Given the description of an element on the screen output the (x, y) to click on. 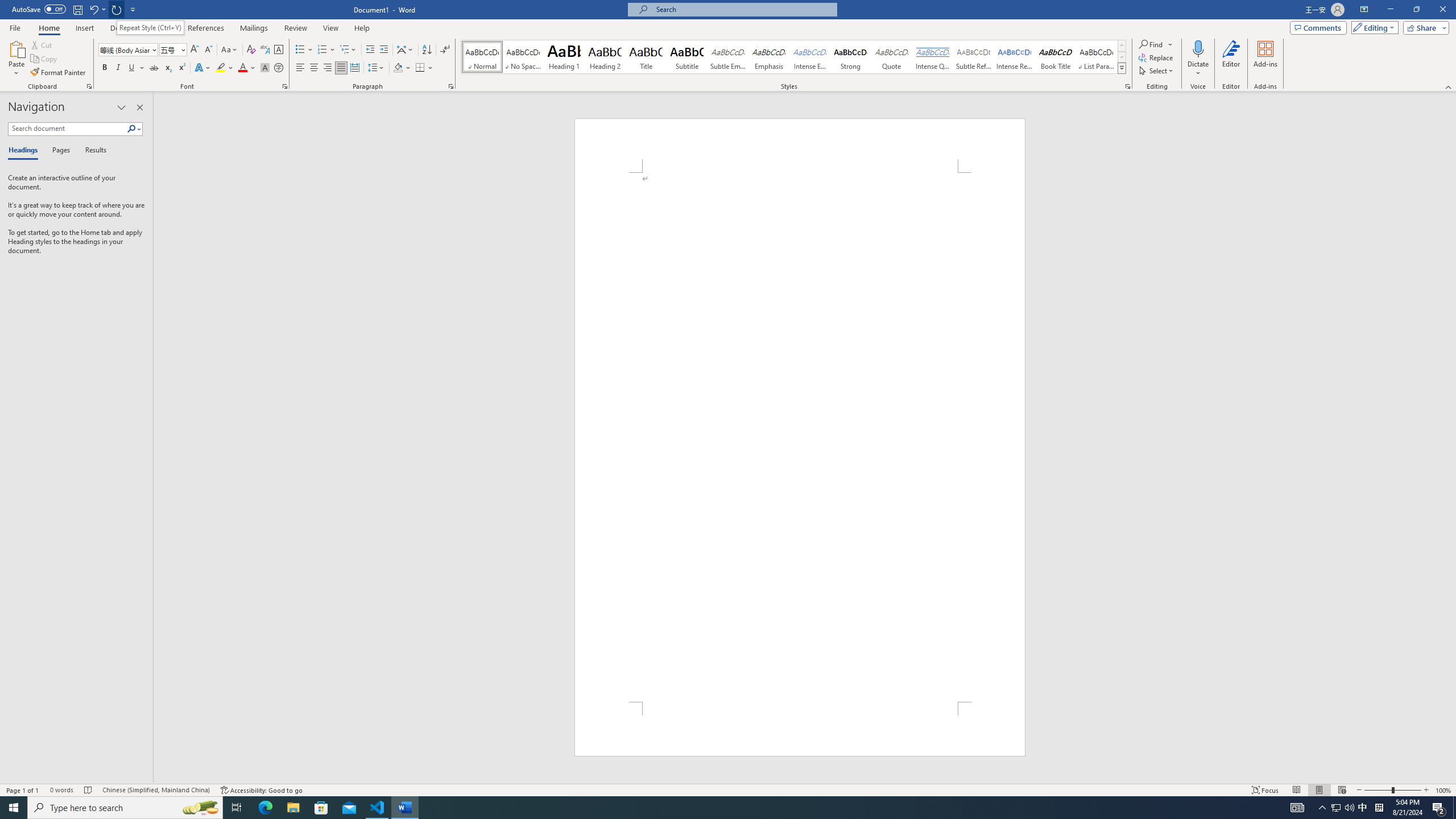
Quick Access Toolbar (74, 9)
Collapse the Ribbon (1448, 86)
Home (48, 28)
Styles... (1127, 85)
Book Title (1055, 56)
Borders (419, 67)
Mailings (253, 28)
Task Pane Options (121, 107)
Paragraph... (450, 85)
Language Chinese (Simplified, Mainland China) (155, 790)
Asian Layout (405, 49)
Open (182, 49)
Format Painter (58, 72)
Find (1155, 44)
